Given the description of an element on the screen output the (x, y) to click on. 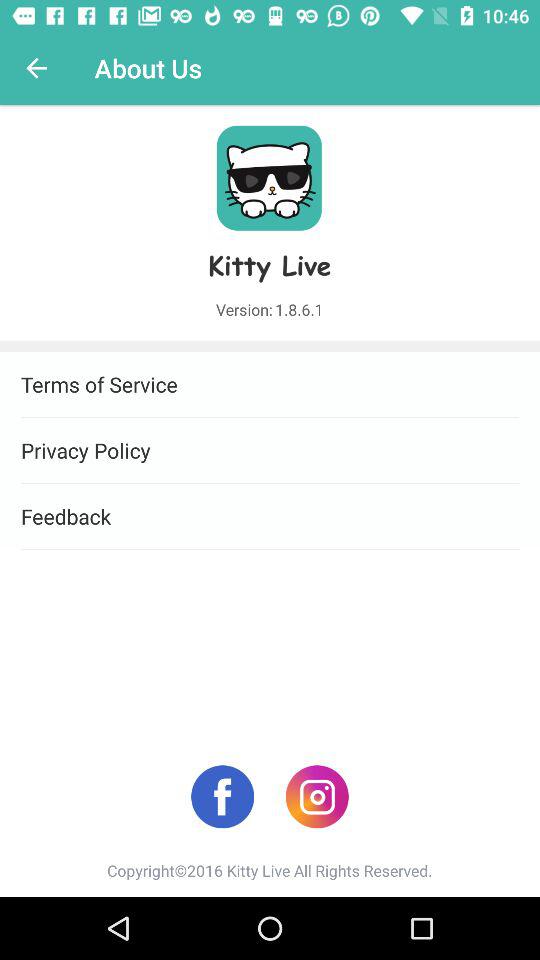
go to the instagram page (316, 796)
